Given the description of an element on the screen output the (x, y) to click on. 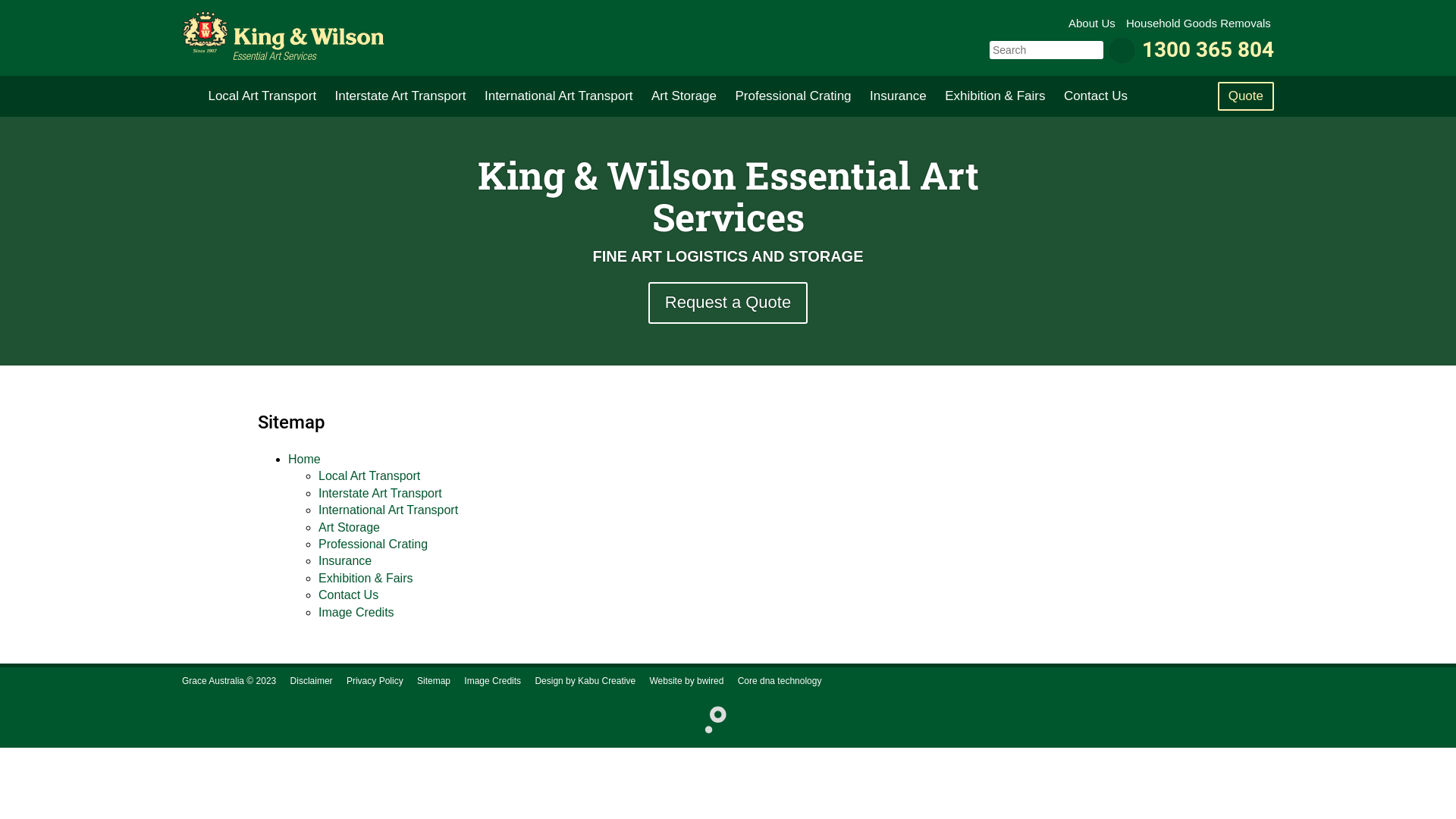
Art Storage Element type: text (348, 526)
Quote Element type: text (1245, 95)
Image Credits Element type: text (356, 611)
Sitemap Element type: text (433, 681)
Core dna Digital Experience Platform (DXP) Element type: hover (709, 717)
Local Art Transport Element type: text (261, 95)
About Us Element type: text (1093, 22)
Insurance Element type: text (898, 95)
International Art Transport Element type: text (388, 509)
Interstate Art Transport Element type: text (380, 492)
Local Art Transport Element type: text (369, 475)
Design by Kabu Creative Element type: text (584, 681)
Core dna technology Element type: text (779, 681)
Insurance Element type: text (344, 560)
Disclaimer Element type: text (311, 681)
International Art Transport Element type: text (558, 95)
Exhibition & Fairs Element type: text (994, 95)
Household Goods Removals Element type: text (1200, 22)
Art Storage Element type: text (683, 95)
Professional Crating Element type: text (372, 543)
Contact Us Element type: text (348, 594)
Image Credits Element type: text (492, 681)
Contact Us Element type: text (1095, 95)
Request a Quote Element type: text (727, 302)
Privacy Policy Element type: text (374, 681)
Website by bwired Element type: text (686, 681)
King & Wilson Essential Art Services Element type: hover (282, 35)
Professional Crating Element type: text (792, 95)
Exhibition & Fairs Element type: text (365, 577)
Interstate Art Transport Element type: text (400, 95)
Home Element type: text (304, 458)
